Given the description of an element on the screen output the (x, y) to click on. 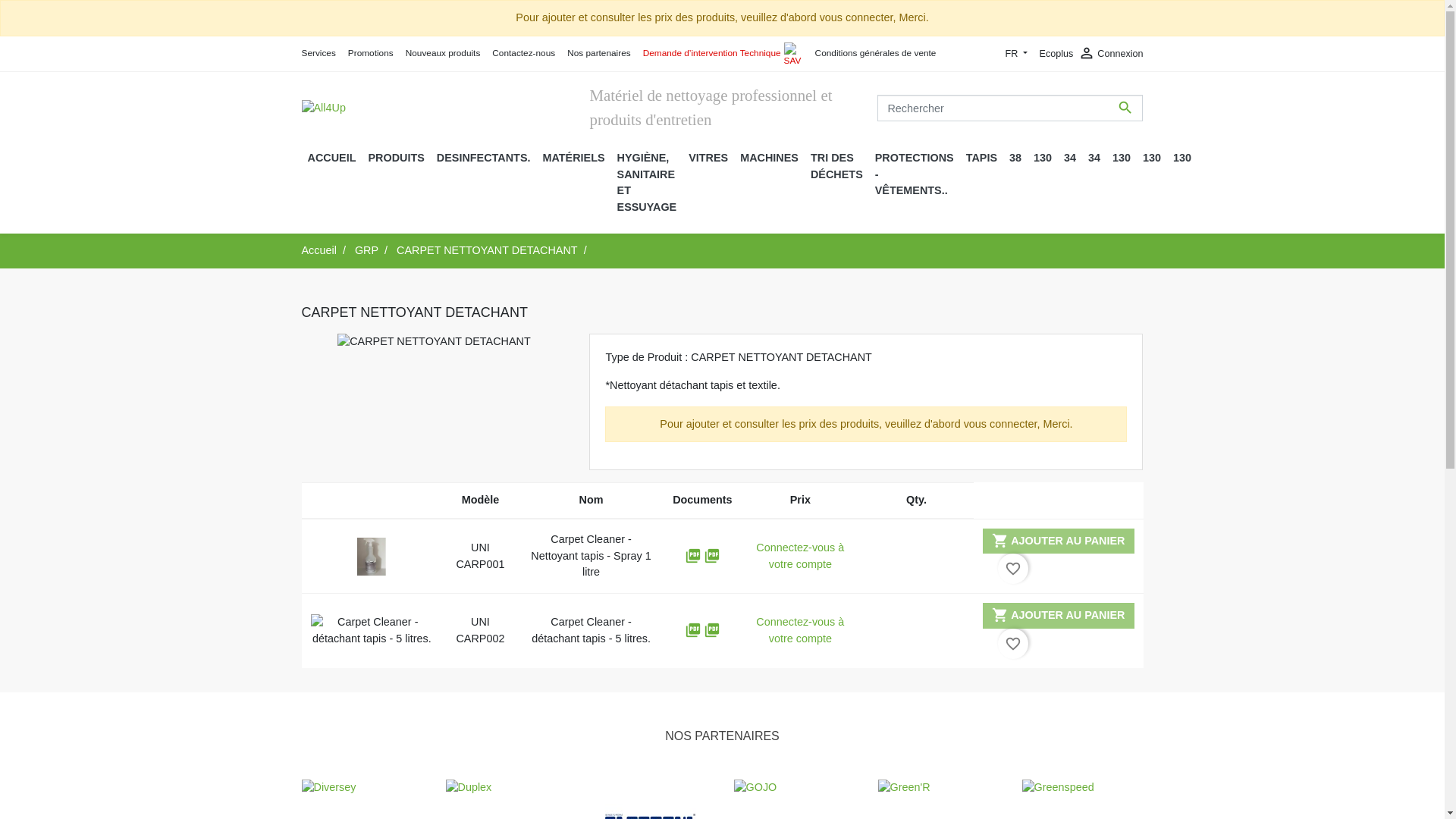
Plus de Greenspeed Element type: hover (1082, 787)
Promotions Element type: text (370, 52)
Nos partenaires Element type: text (598, 52)
picture_as_pdf Element type: text (711, 555)
130 Element type: text (1121, 158)
Plus de GOJO Element type: hover (794, 787)
34 Element type: text (1094, 158)
PRODUITS Element type: text (395, 158)
picture_as_pdf Element type: text (694, 630)
TAPIS Element type: text (981, 158)
Contactez-nous Element type: text (523, 52)
picture_as_pdf Element type: text (694, 555)
FR Element type: text (1016, 54)
Plus de Green'R Element type: hover (938, 787)
MACHINES Element type: text (769, 158)
Services Element type: text (318, 52)
favorite_border Element type: text (1012, 568)
picture_as_pdf Element type: text (711, 630)
VITRES Element type: text (708, 158)
favorite_border Element type: text (1012, 643)
Ecoplus Element type: text (1055, 53)
130 Element type: text (1182, 158)
34 Element type: text (1069, 158)
Accueil Element type: text (318, 250)
Plus de Duplex Element type: hover (506, 787)
DESINFECTANTS. Element type: text (483, 158)
Plus de Diversey Element type: hover (362, 787)
130 Element type: text (1042, 158)
ACCUEIL Element type: text (331, 158)
38 Element type: text (1015, 158)
130 Element type: text (1151, 158)
Nouveaux produits Element type: text (442, 52)
CARPET NETTOYANT DETACHANT Element type: text (486, 250)
GRP Element type: text (366, 250)
